Given the description of an element on the screen output the (x, y) to click on. 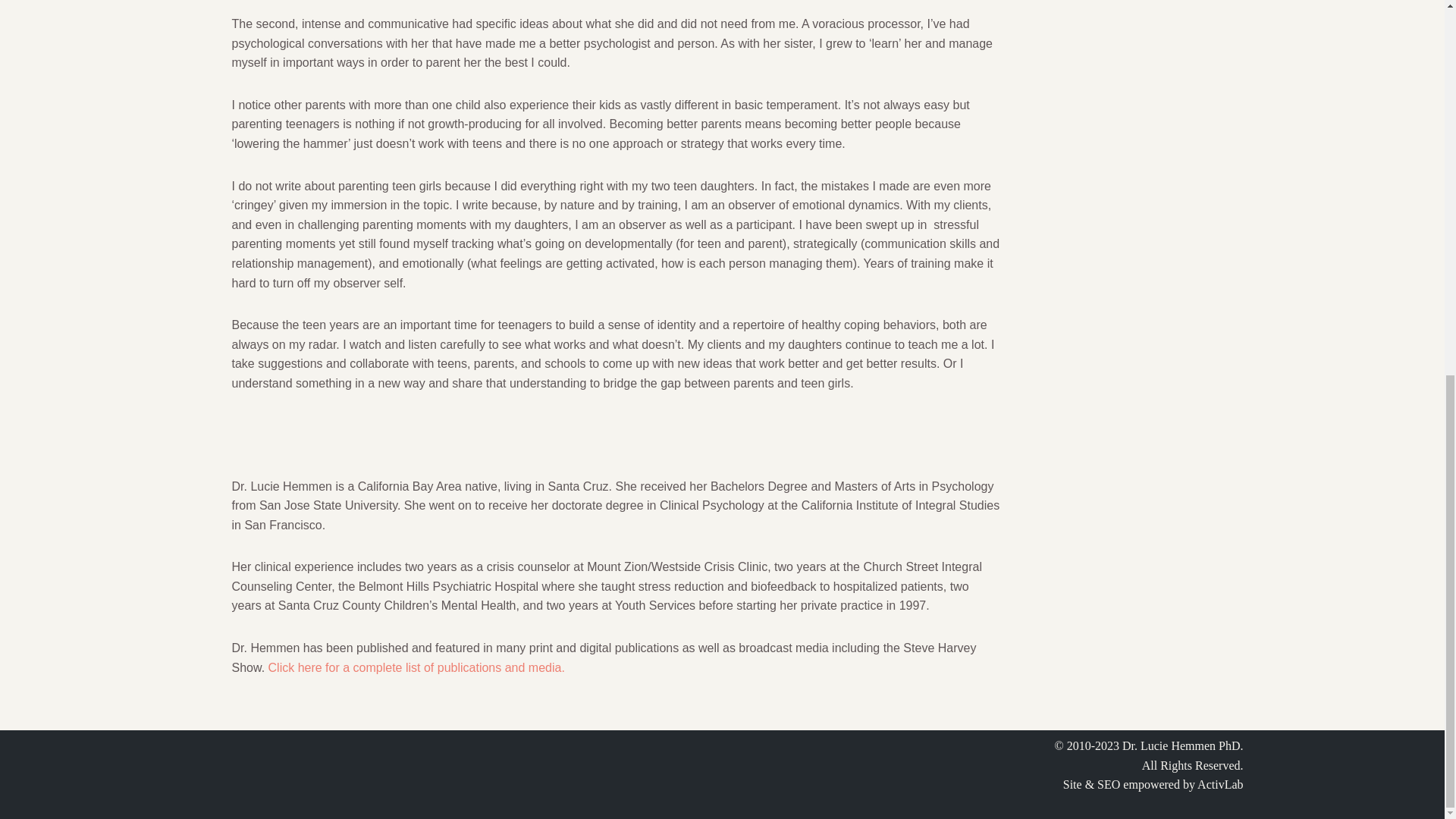
Click here for a complete list of publications and media. (415, 667)
